Given the description of an element on the screen output the (x, y) to click on. 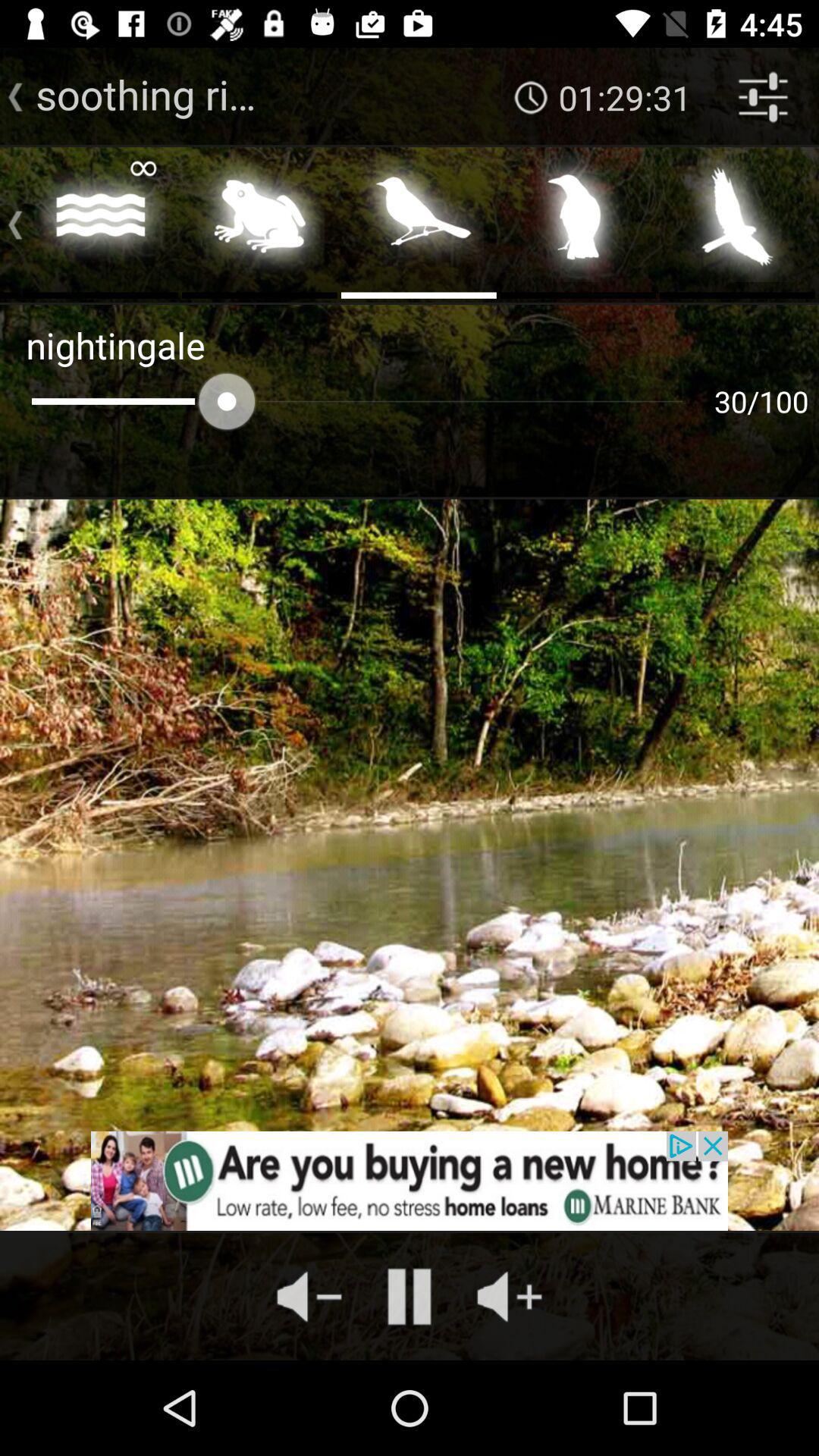
play bird sound (577, 221)
